Given the description of an element on the screen output the (x, y) to click on. 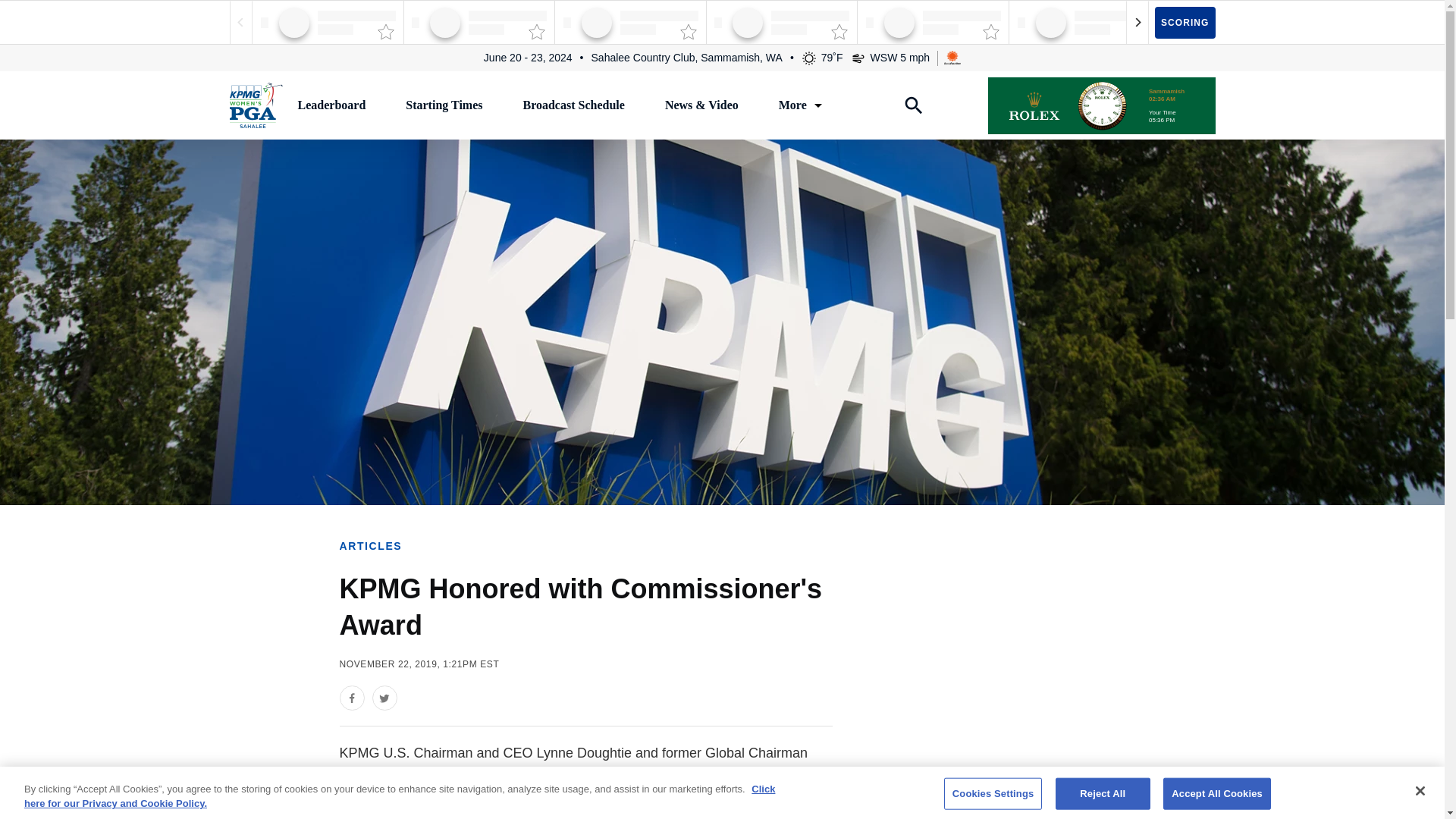
Starting Times (443, 105)
SCORING (1184, 21)
Broadcast Schedule (573, 105)
KPMG Rolex 2022 (1100, 105)
3rd party ad content (1055, 735)
Leaderboard (331, 105)
